Given the description of an element on the screen output the (x, y) to click on. 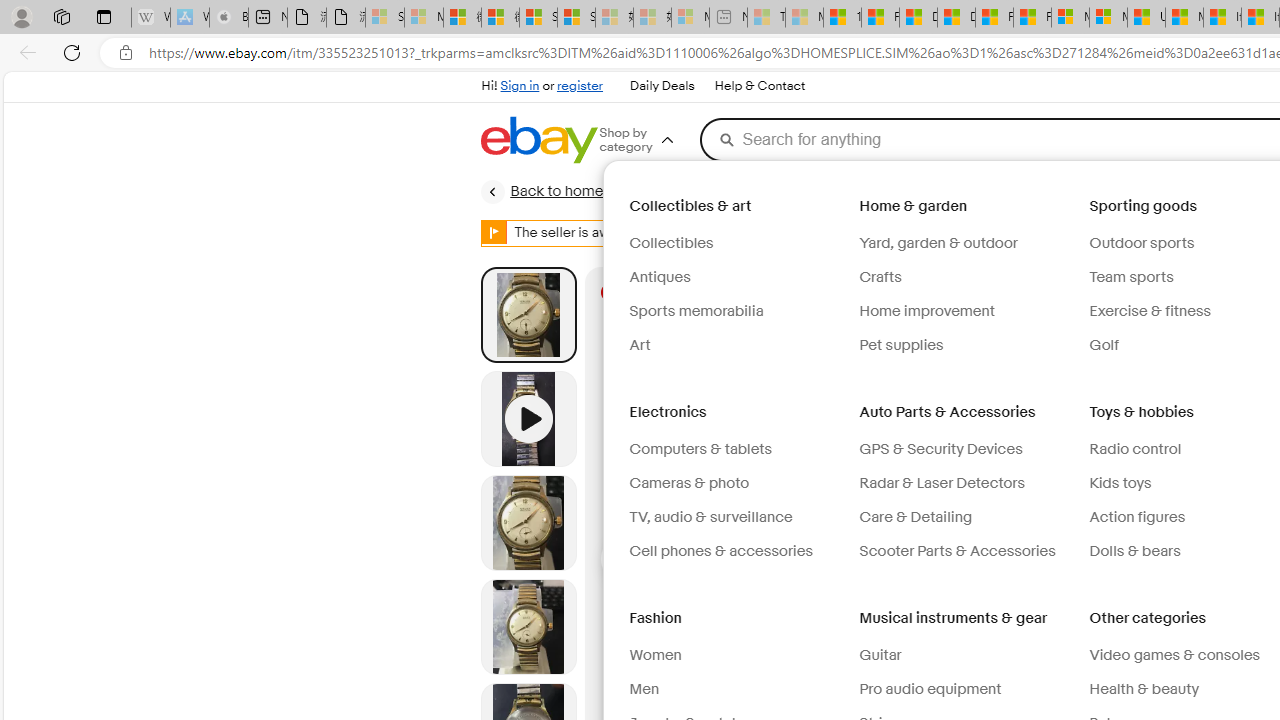
Antiques (659, 277)
Computers & tablets (700, 449)
Musical instruments & gear (955, 618)
Picture 3 of 13 (528, 626)
Computers & tablets (736, 449)
GPS & Security Devices (940, 449)
Daily Deals (662, 86)
Home improvement (966, 312)
Buy iPad - Apple - Sleeping (228, 17)
